Given the description of an element on the screen output the (x, y) to click on. 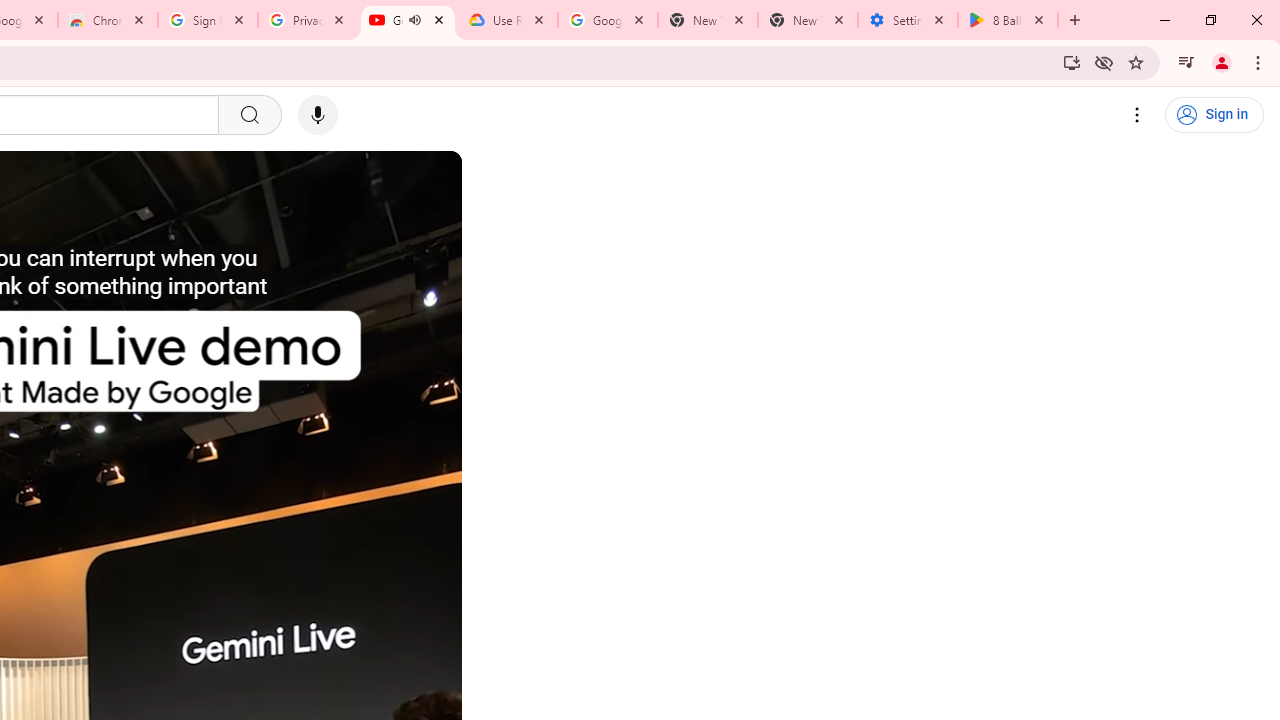
Chrome Web Store - Color themes by Chrome (107, 20)
New Tab (807, 20)
